Given the description of an element on the screen output the (x, y) to click on. 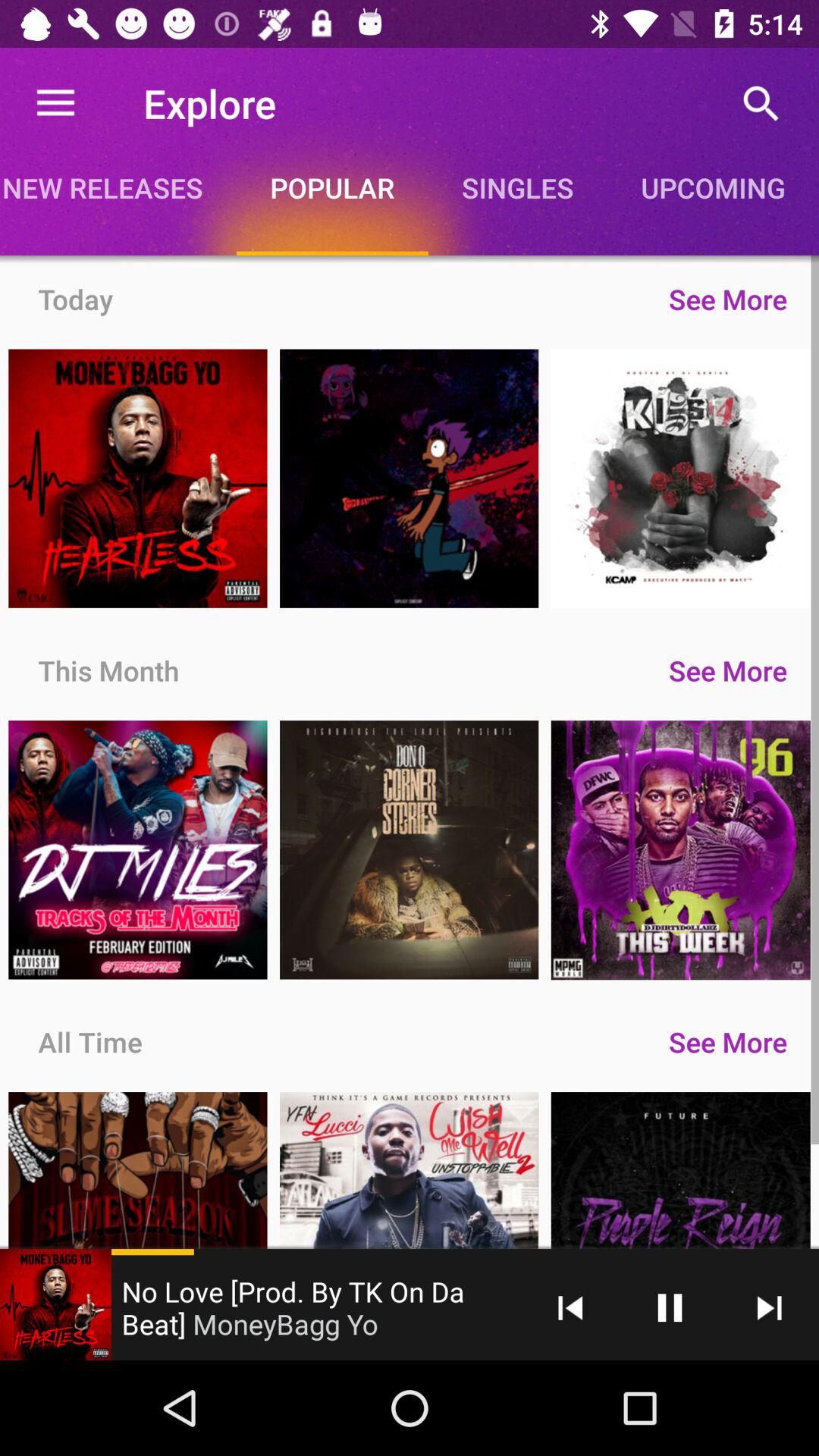
press app next to the explore item (55, 103)
